Given the description of an element on the screen output the (x, y) to click on. 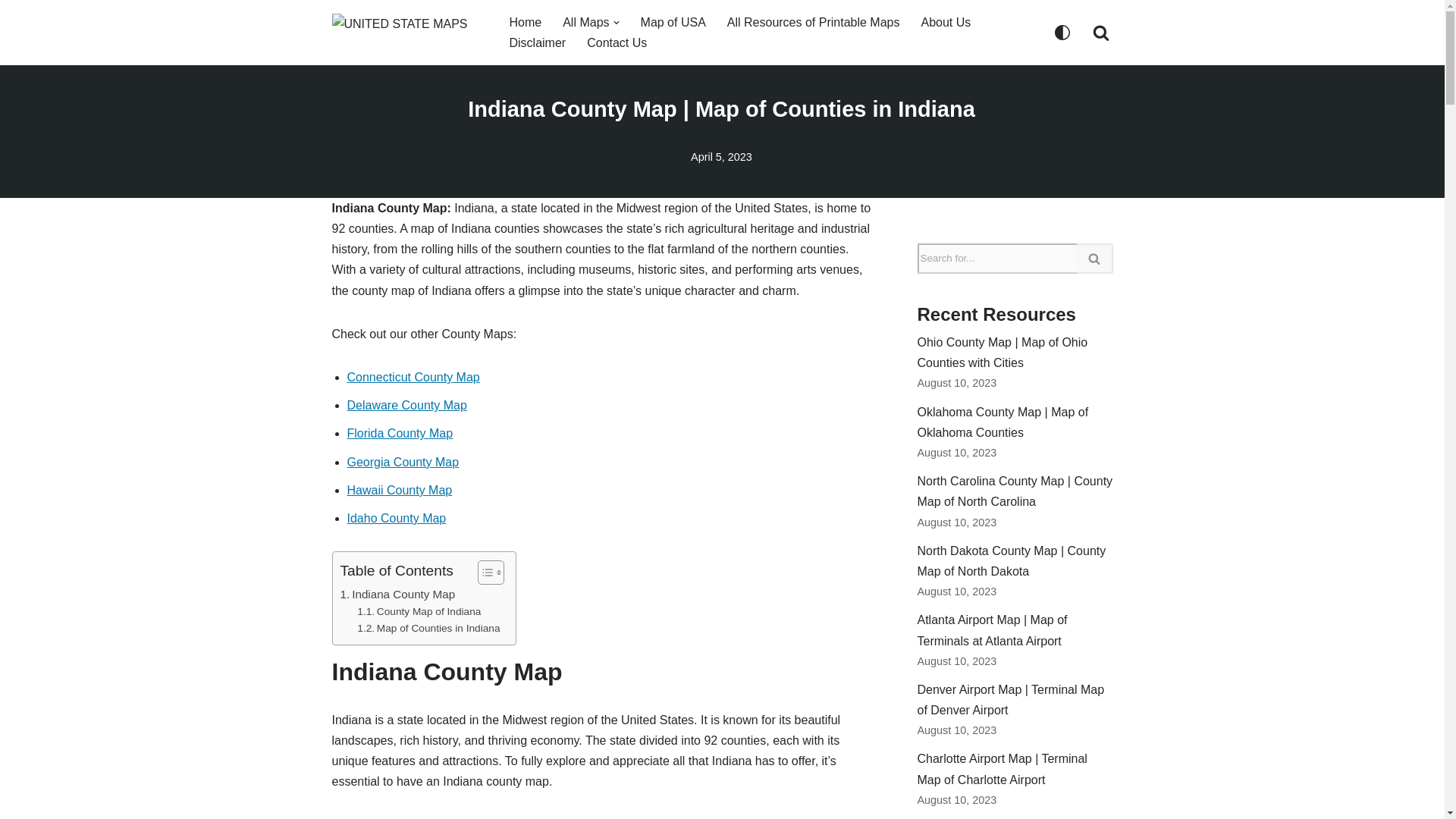
Indiana County Map (396, 594)
County Map of Indiana (418, 611)
Home (525, 22)
Skip to content (11, 31)
All Maps (585, 22)
Map of Counties in Indiana (427, 628)
